Given the description of an element on the screen output the (x, y) to click on. 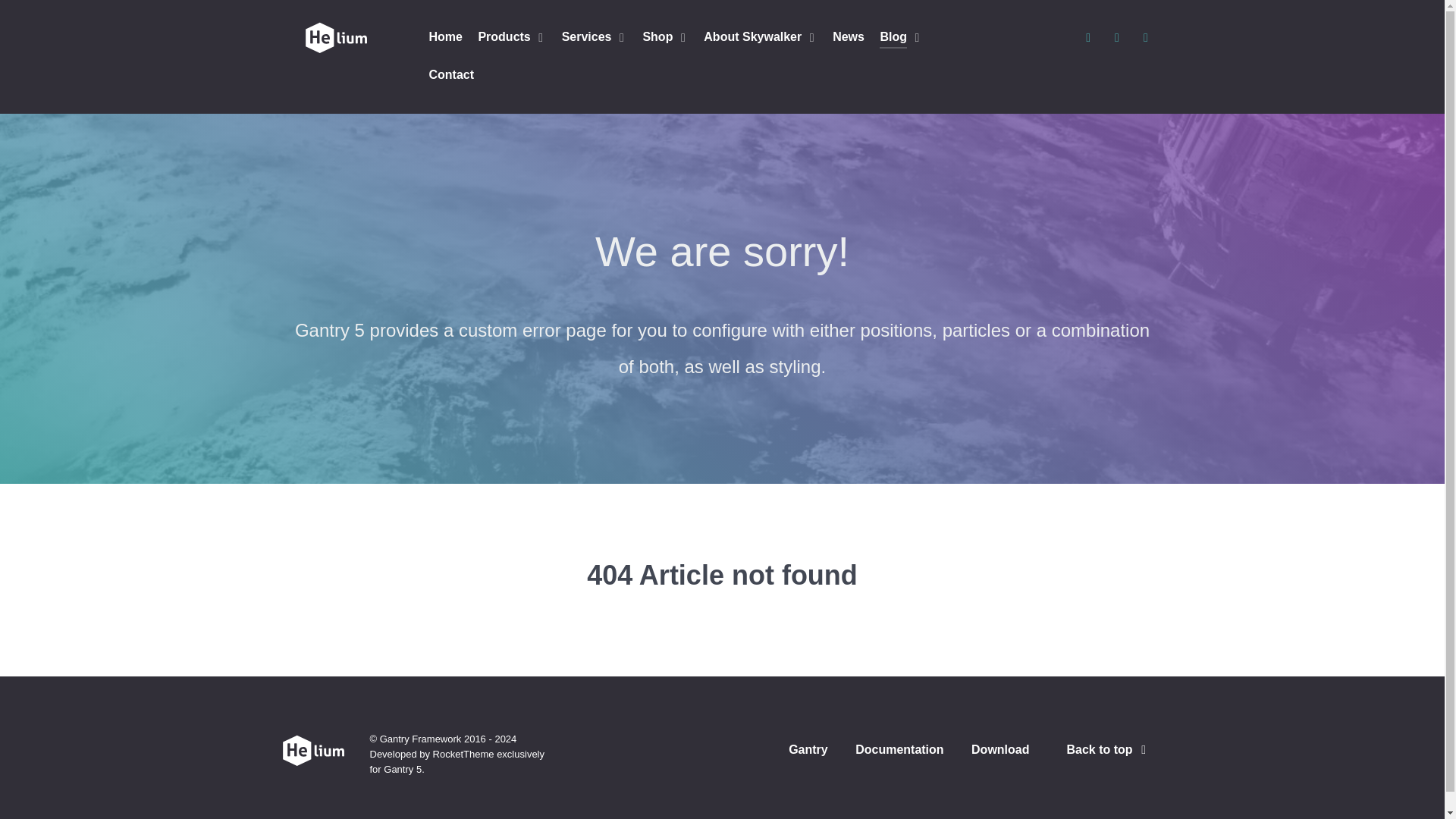
Products (511, 38)
Home (446, 38)
Download (1000, 752)
Gantry (808, 752)
Back to top (1108, 748)
Documentation (899, 752)
